Given the description of an element on the screen output the (x, y) to click on. 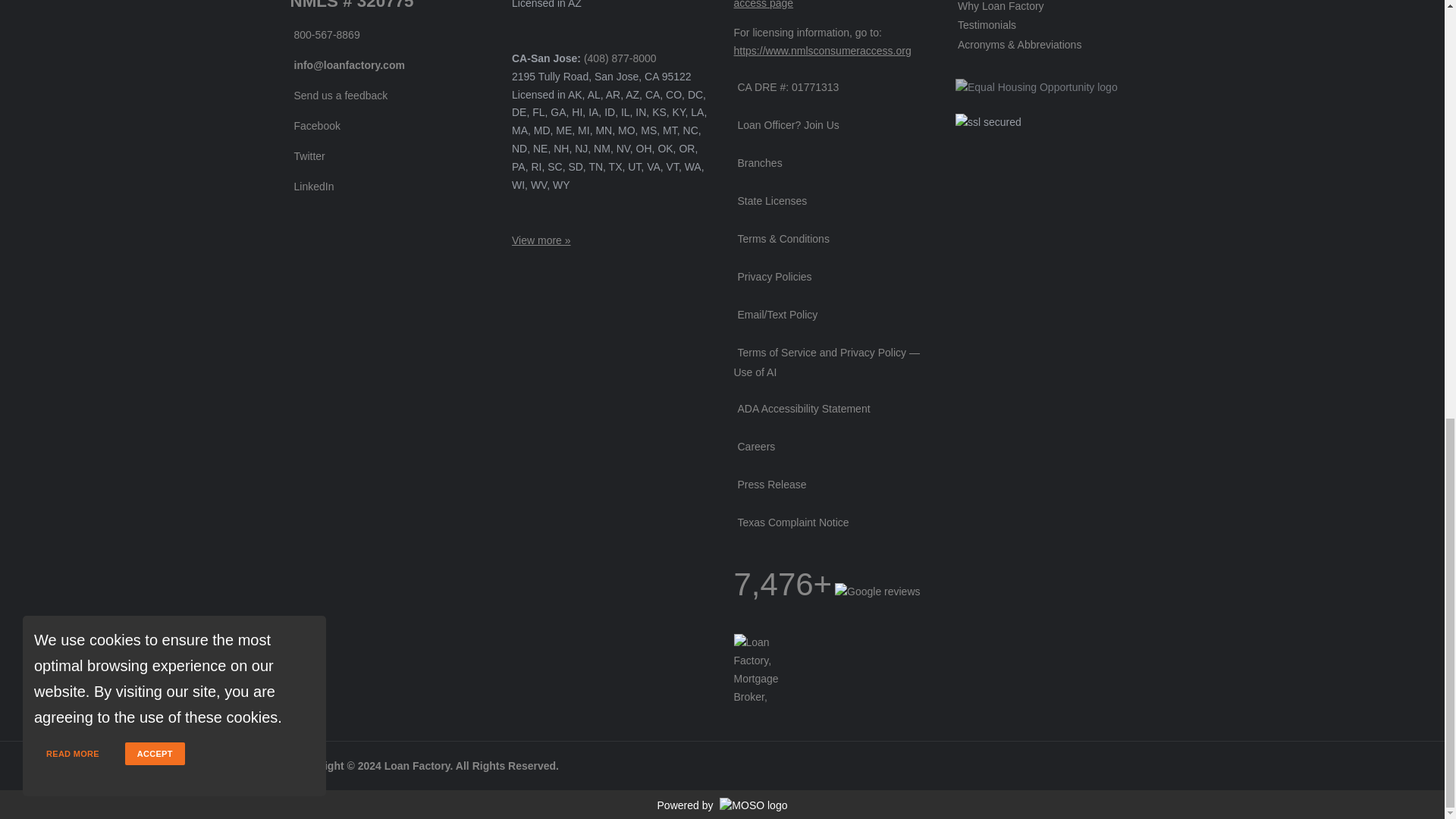
Twitter (306, 155)
Facebook (314, 125)
Send us a feedback (338, 95)
800-567-8869 (324, 34)
LinkedIn (311, 186)
